Given the description of an element on the screen output the (x, y) to click on. 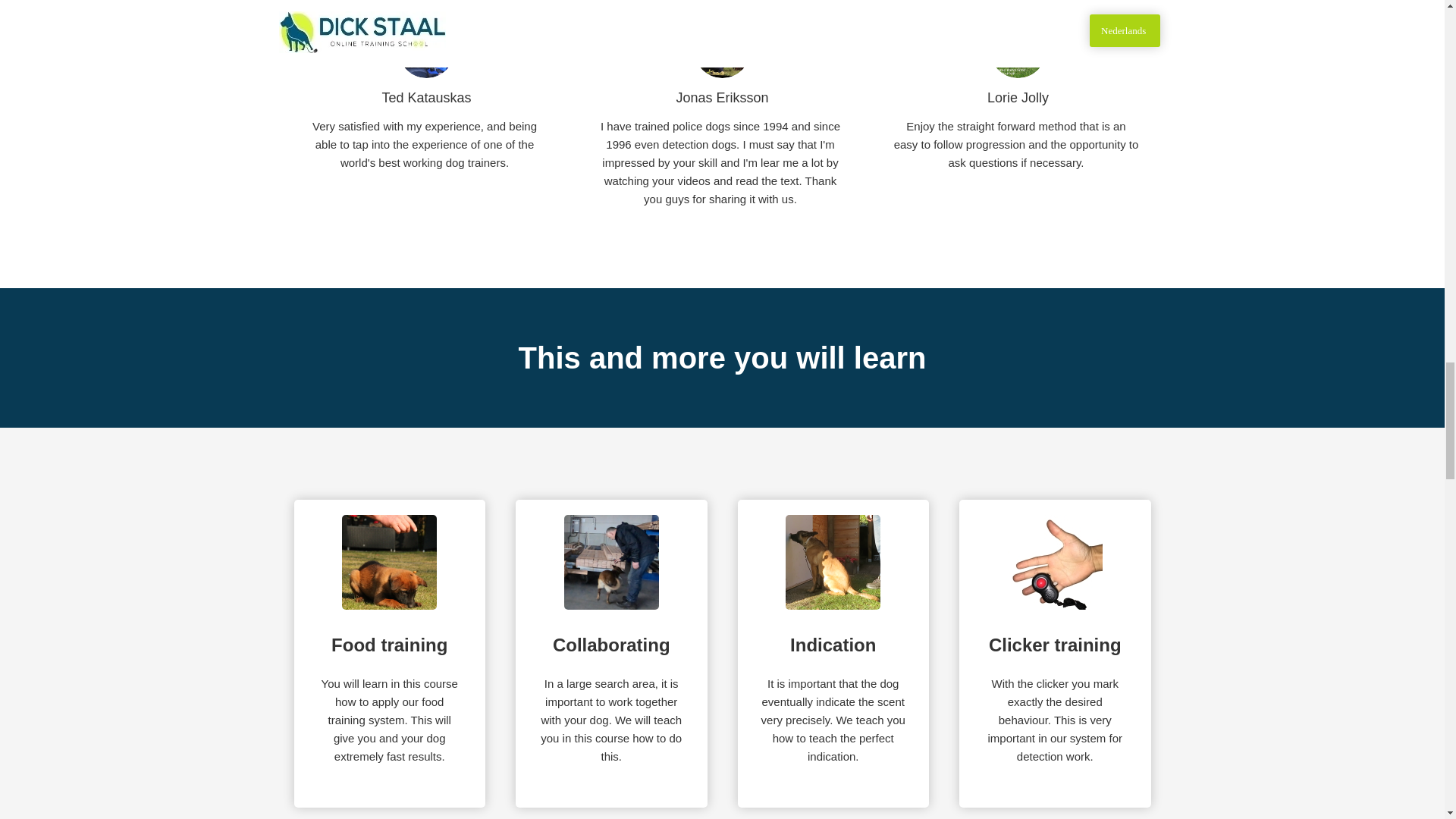
Indication behaviour (833, 562)
Food training system (389, 562)
Clicker training (1054, 562)
